Given the description of an element on the screen output the (x, y) to click on. 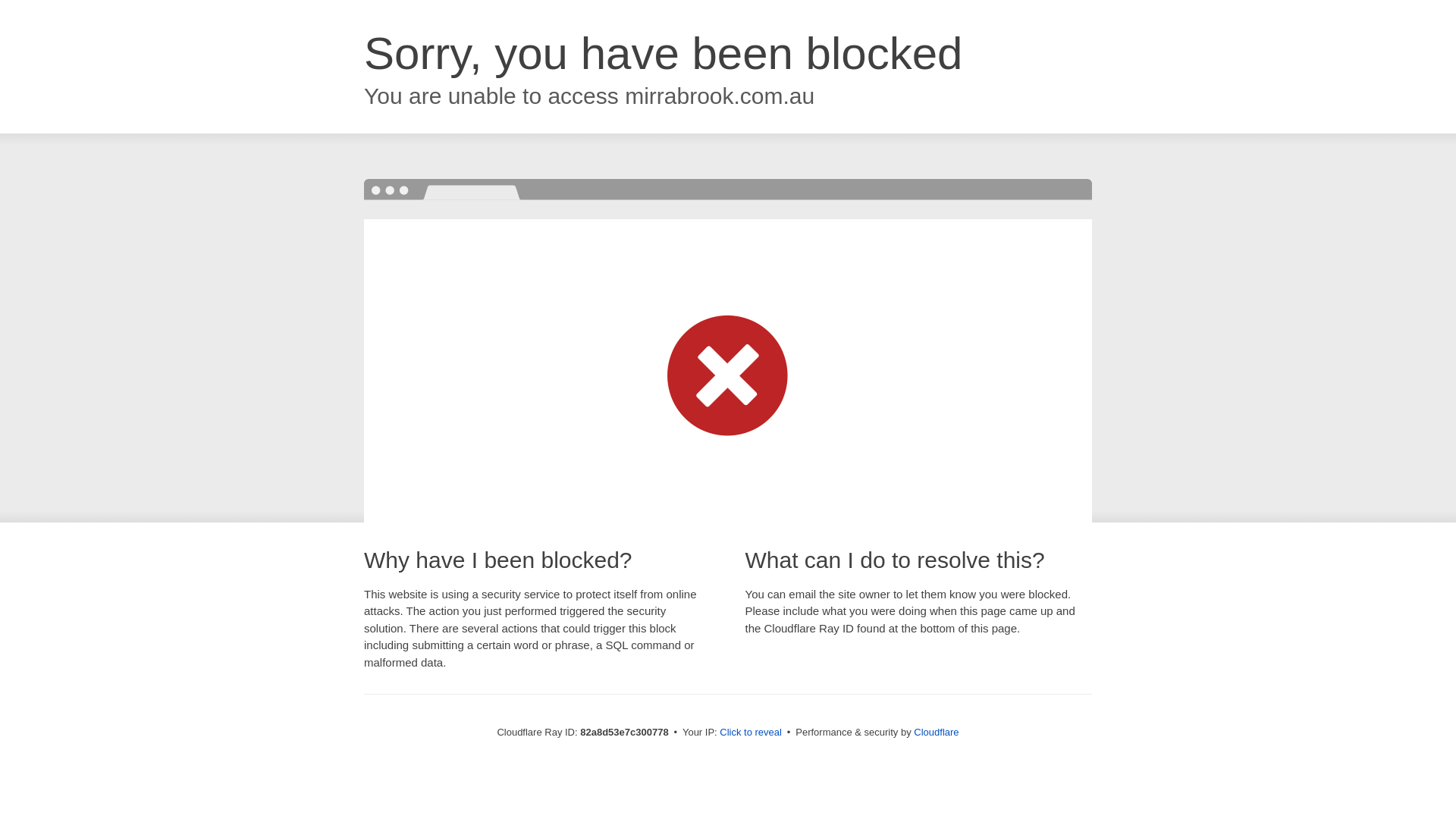
Cloudflare Element type: text (935, 731)
Click to reveal Element type: text (750, 732)
